Given the description of an element on the screen output the (x, y) to click on. 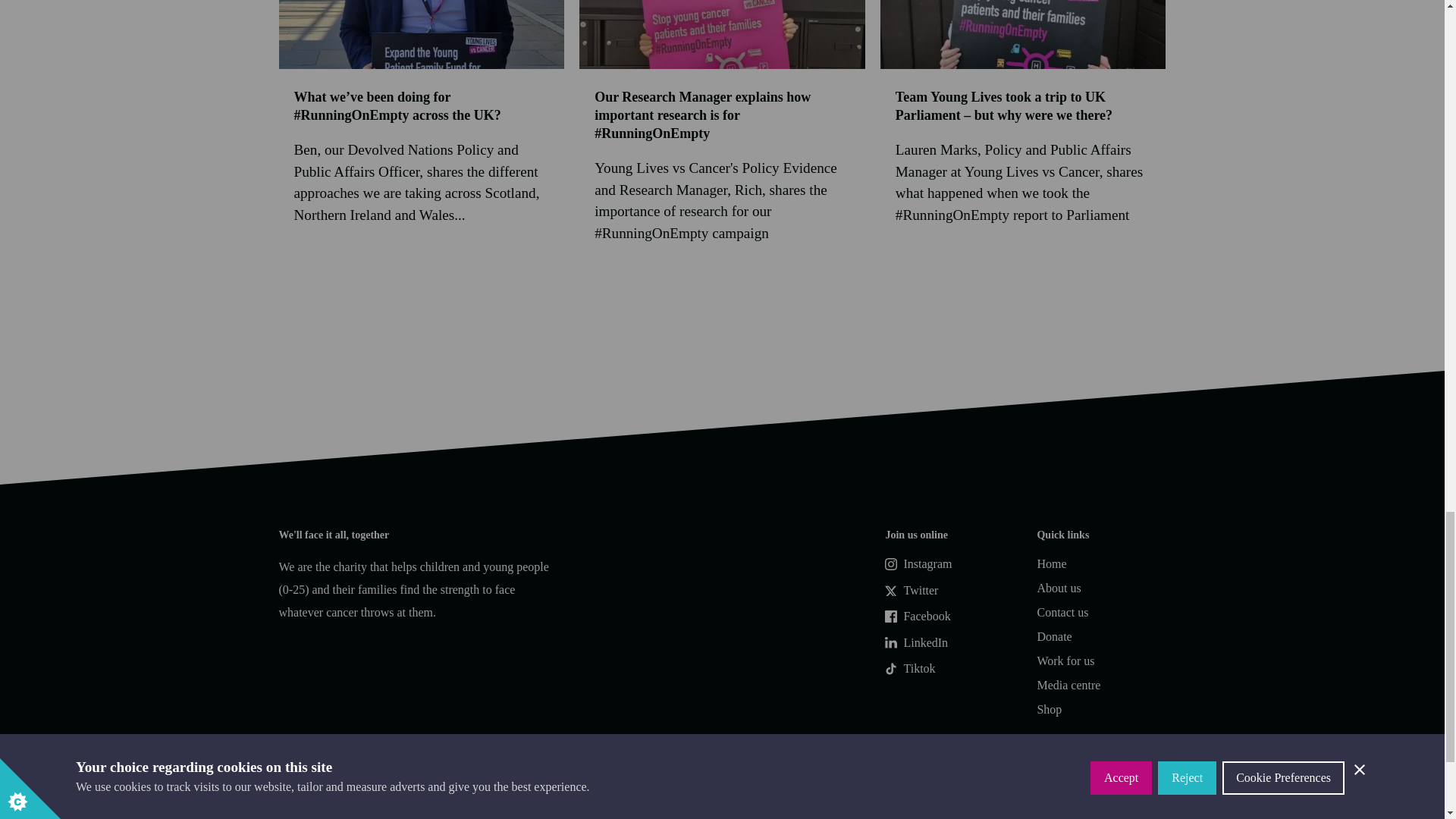
Facebook (917, 616)
Instagram (918, 564)
LinkedIn (916, 642)
Twitter (911, 590)
Tiktok (909, 668)
